Given the description of an element on the screen output the (x, y) to click on. 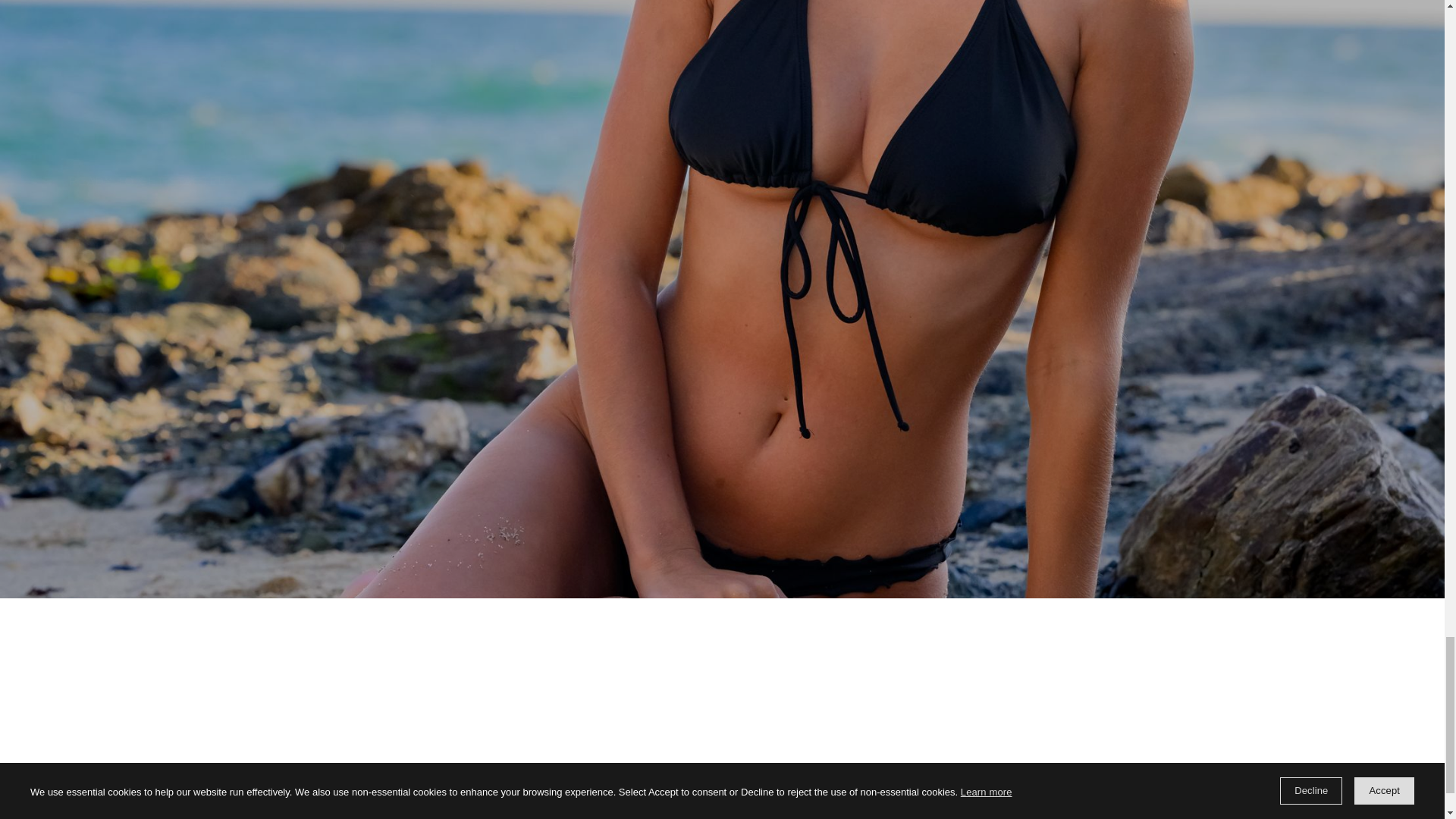
Tiktok (1330, 817)
Instagram (1277, 817)
Contact (114, 308)
